Given the description of an element on the screen output the (x, y) to click on. 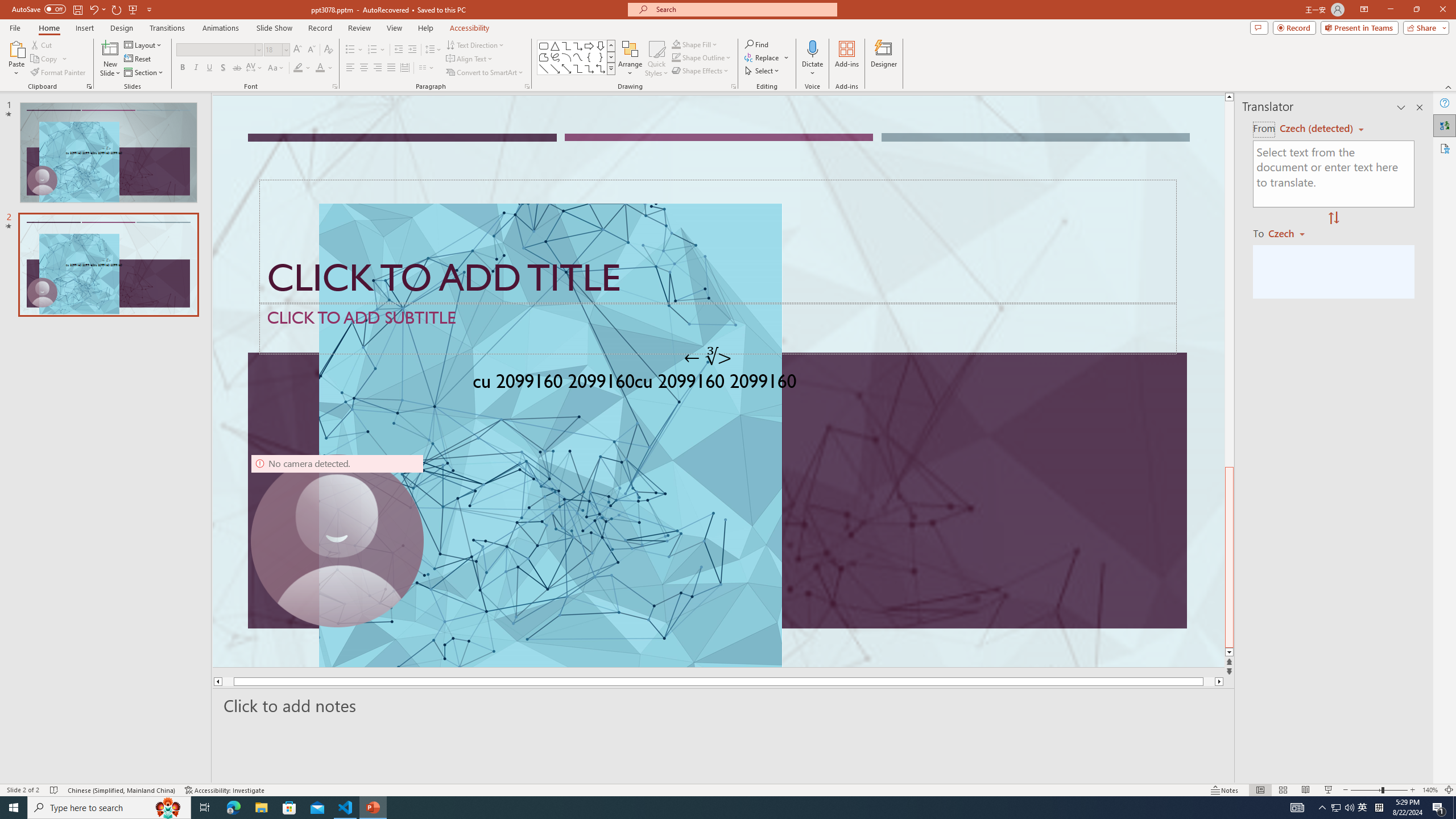
Shape Outline Green, Accent 1 (675, 56)
